Given the description of an element on the screen output the (x, y) to click on. 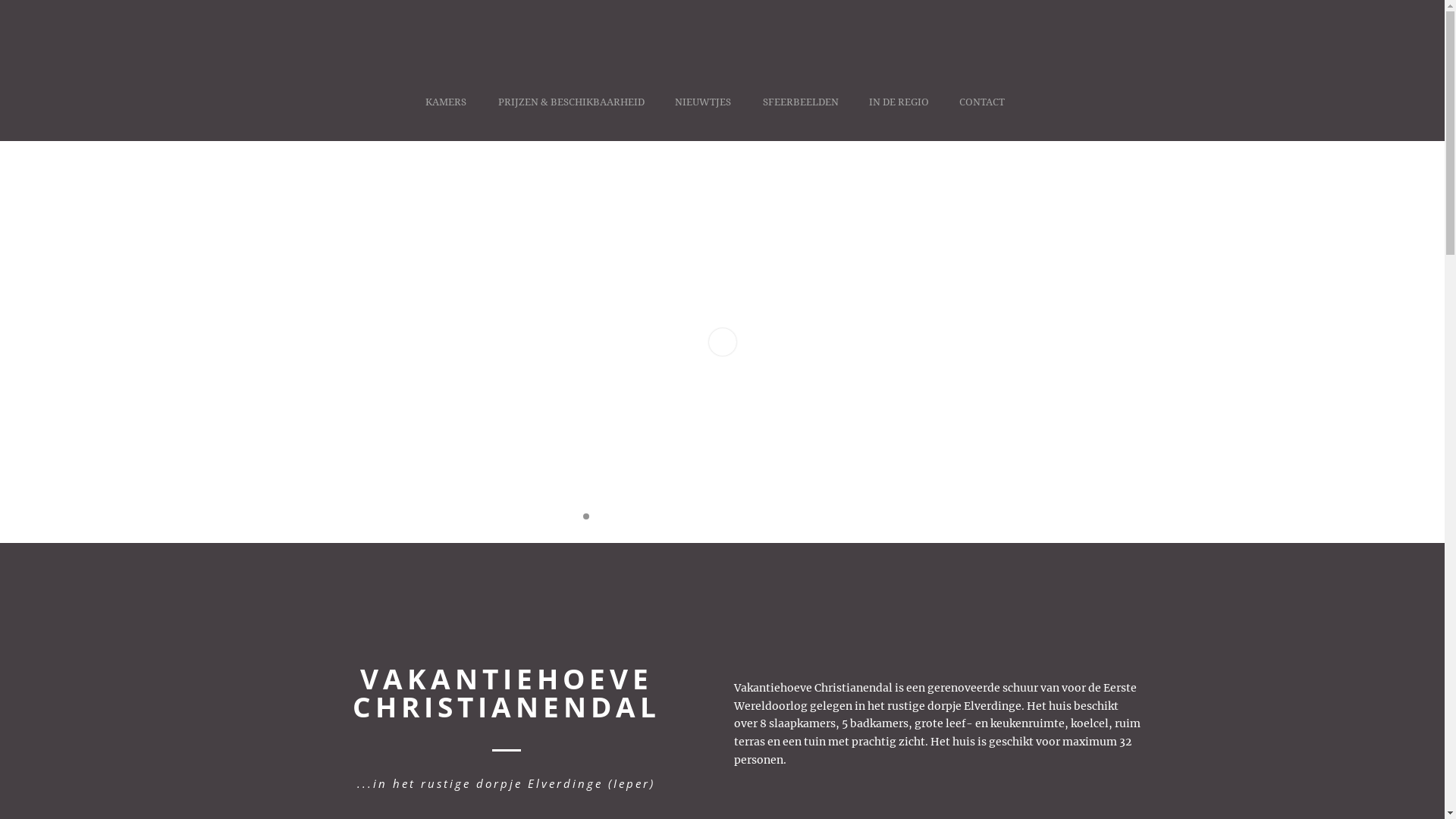
CONTACT Element type: text (981, 117)
SFEERBEELDEN Element type: text (800, 117)
KAMERS Element type: text (453, 117)
IN DE REGIO Element type: text (898, 117)
NIEUWTJES Element type: text (703, 117)
PRIJZEN & BESCHIKBAARHEID Element type: text (570, 117)
